Given the description of an element on the screen output the (x, y) to click on. 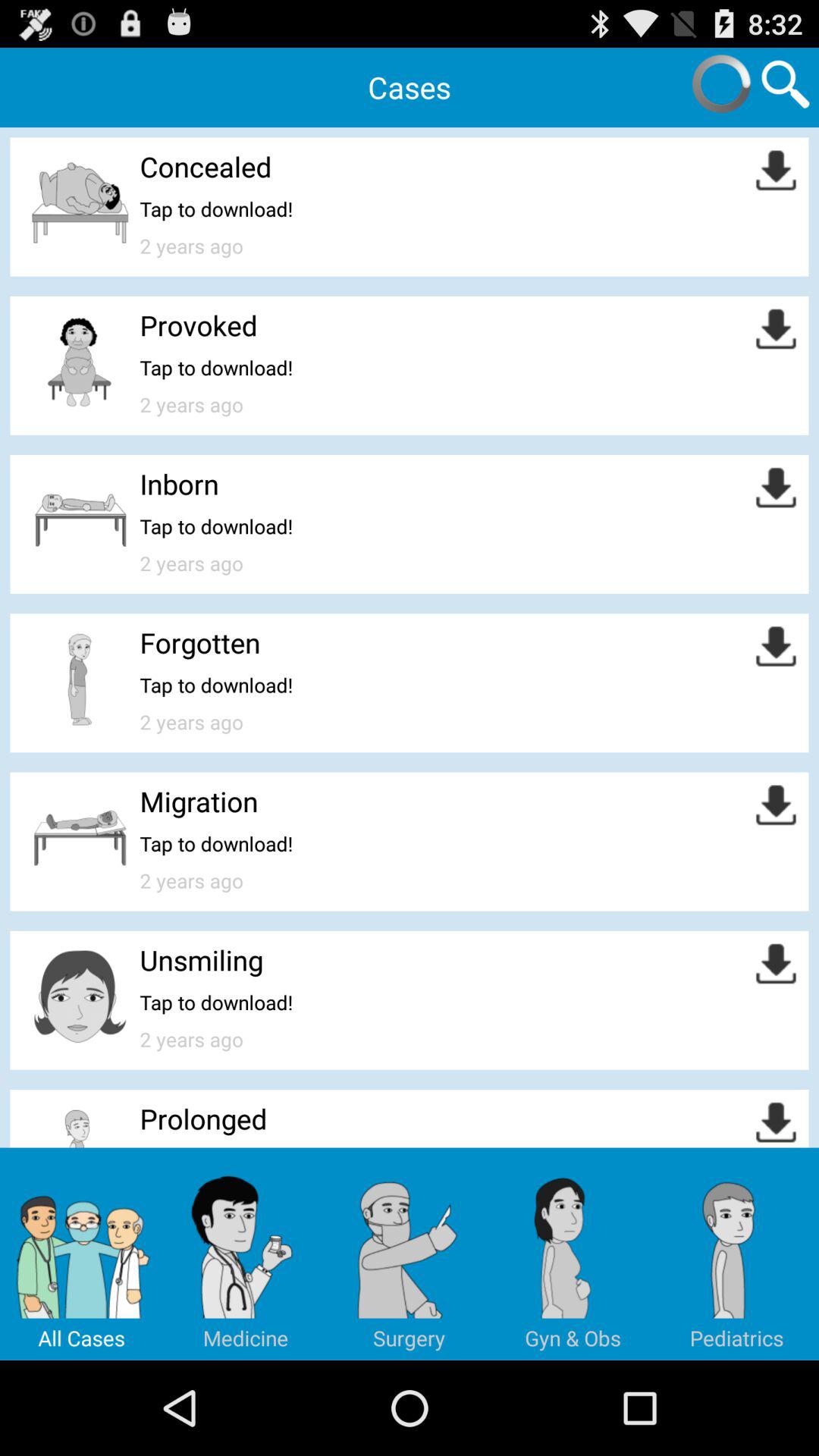
choose icon at the bottom (409, 1253)
